Given the description of an element on the screen output the (x, y) to click on. 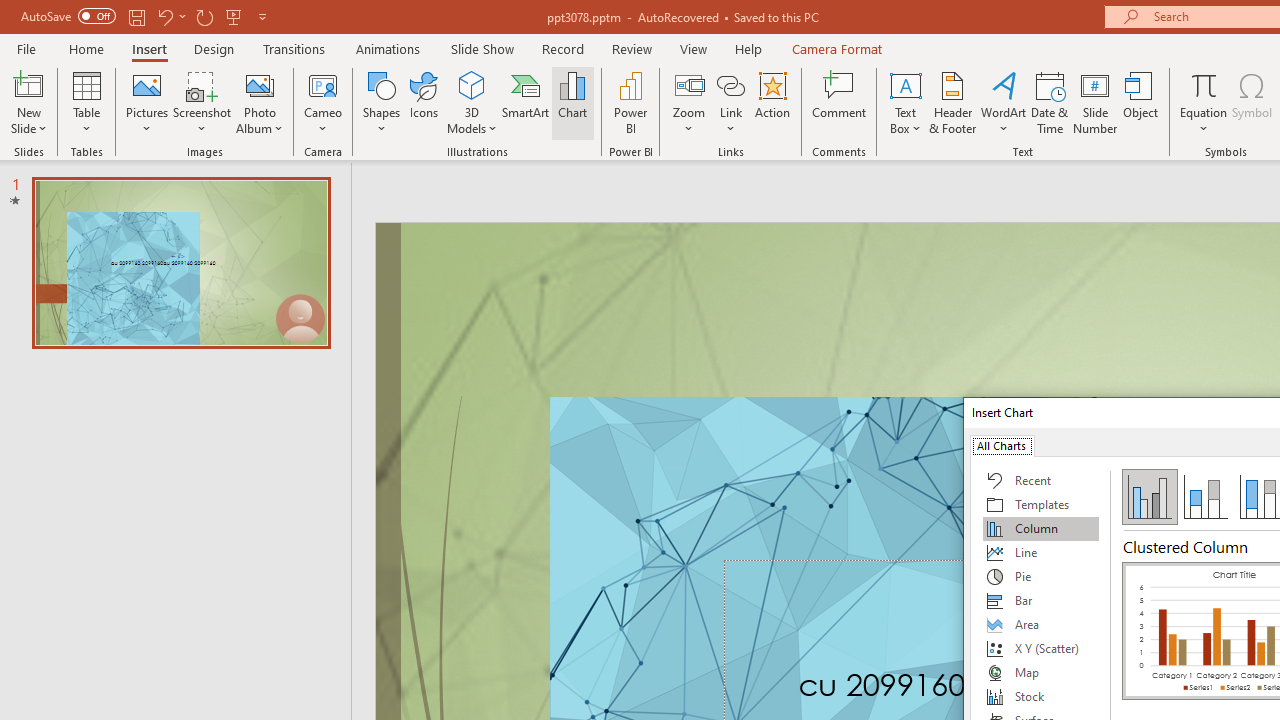
Clustered Column (1149, 496)
Icons (424, 102)
SmartArt... (525, 102)
3D Models (472, 84)
Comment (839, 102)
Screenshot (202, 102)
Stacked Column (1205, 496)
Map (1041, 672)
